Given the description of an element on the screen output the (x, y) to click on. 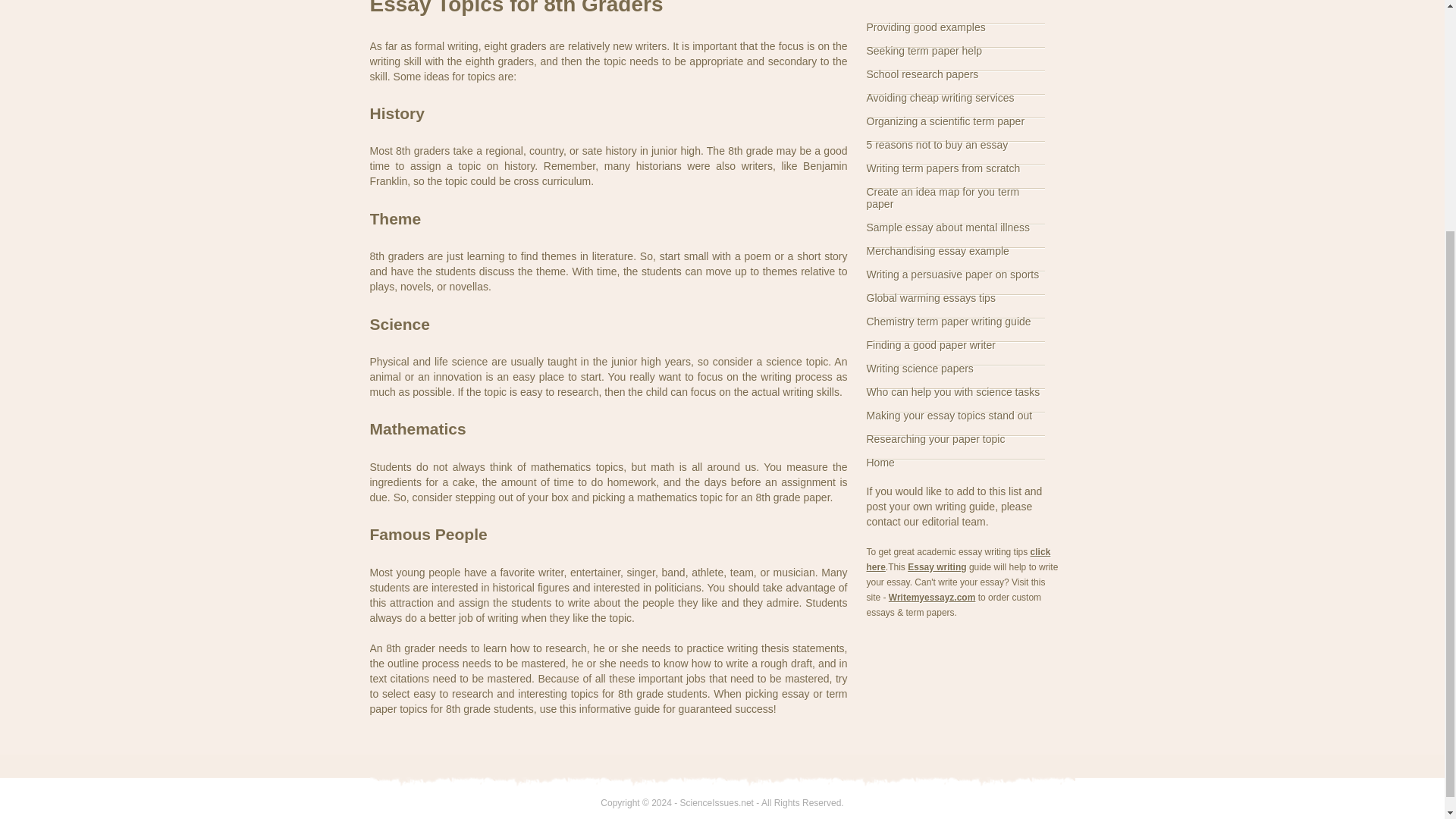
Research Paper Writing Prompts - Providing Good Examples (925, 27)
When Seeking Term Paper Help Is Inevitable? (923, 50)
Why You Should Not Buy Essays From Online Writing Agencies (936, 144)
School Research Papers: Your Introduction Must Shine (922, 73)
Researching Your Paper Topic (935, 439)
Who Can Solve Your Science Homework Tasks? (952, 391)
Prompts For Organizing Your Scientific Term Papers (945, 121)
Writing Term Papers From Scratch: Some Basic Prompts (943, 168)
Writing An Excellent Chemistry Term Paper (948, 321)
Your High School Paper Depends On A Topic You Choose (949, 415)
Writing An Academic Essay On The Topic Of Global Warming (930, 297)
